Given the description of an element on the screen output the (x, y) to click on. 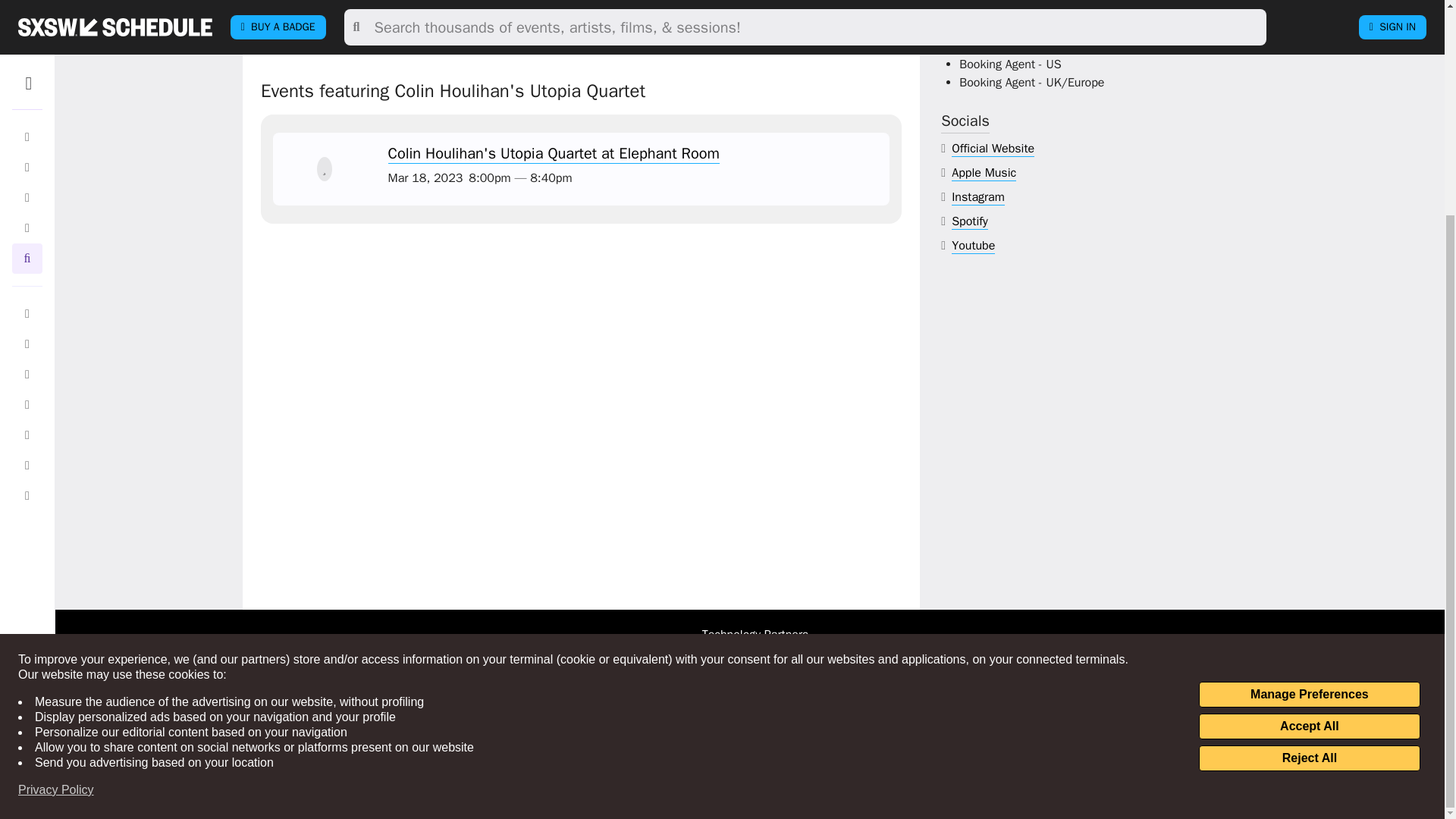
Privacy Policy (55, 507)
website (992, 148)
apple (984, 172)
Accept All (1309, 444)
Manage Preferences (1309, 412)
Reject All (1309, 475)
instagram (978, 197)
spotify (970, 221)
youtube (973, 245)
